Given the description of an element on the screen output the (x, y) to click on. 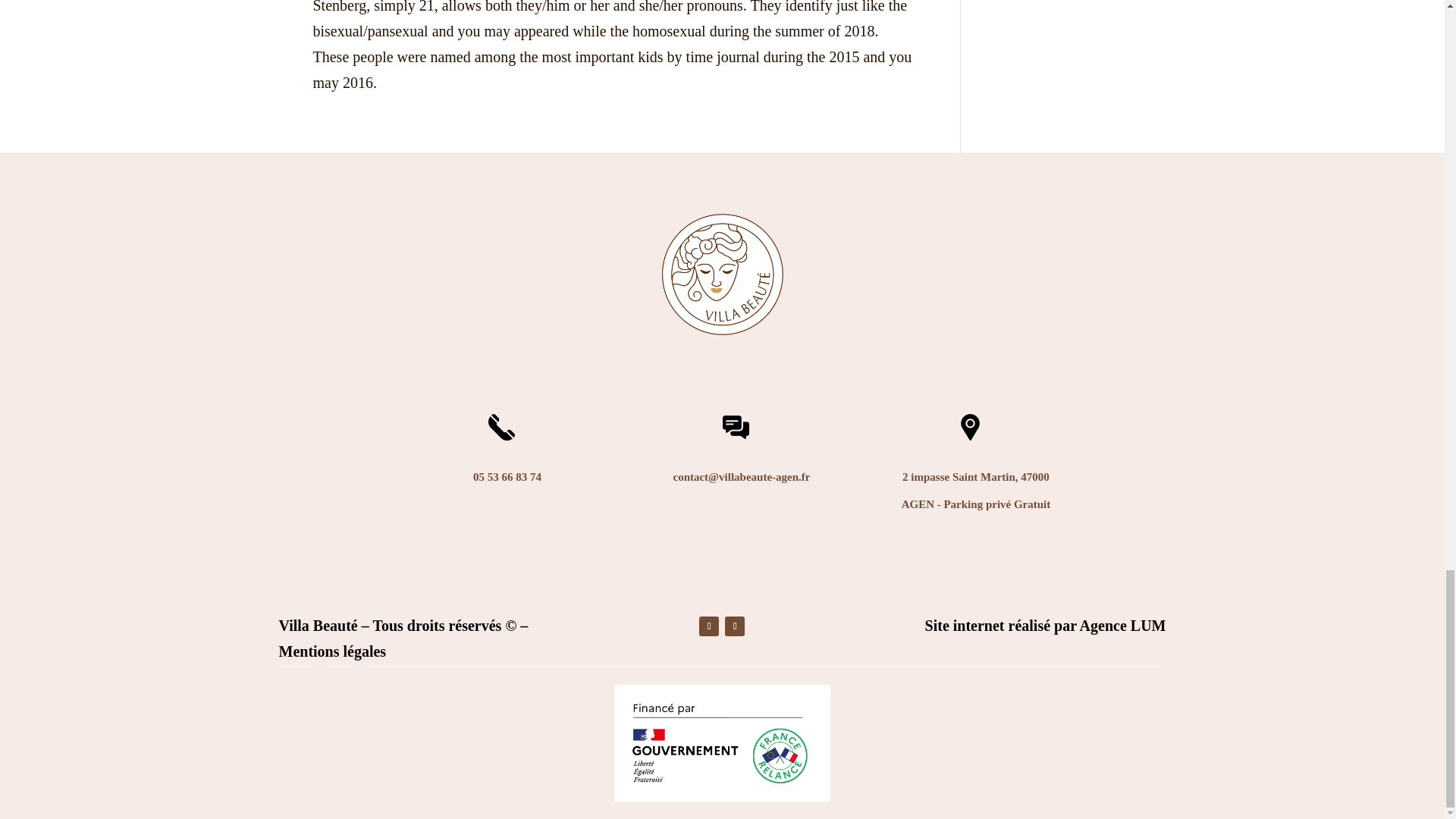
logo-FR-kit-com (722, 742)
Suivez sur Instagram (734, 626)
Suivez sur Facebook (708, 626)
